Given the description of an element on the screen output the (x, y) to click on. 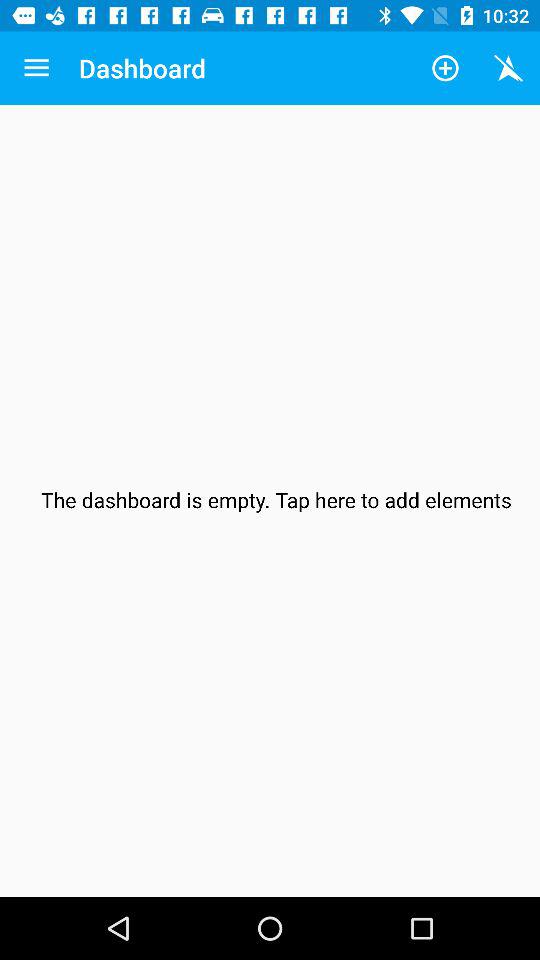
launch the icon next to dashboard app (36, 68)
